Given the description of an element on the screen output the (x, y) to click on. 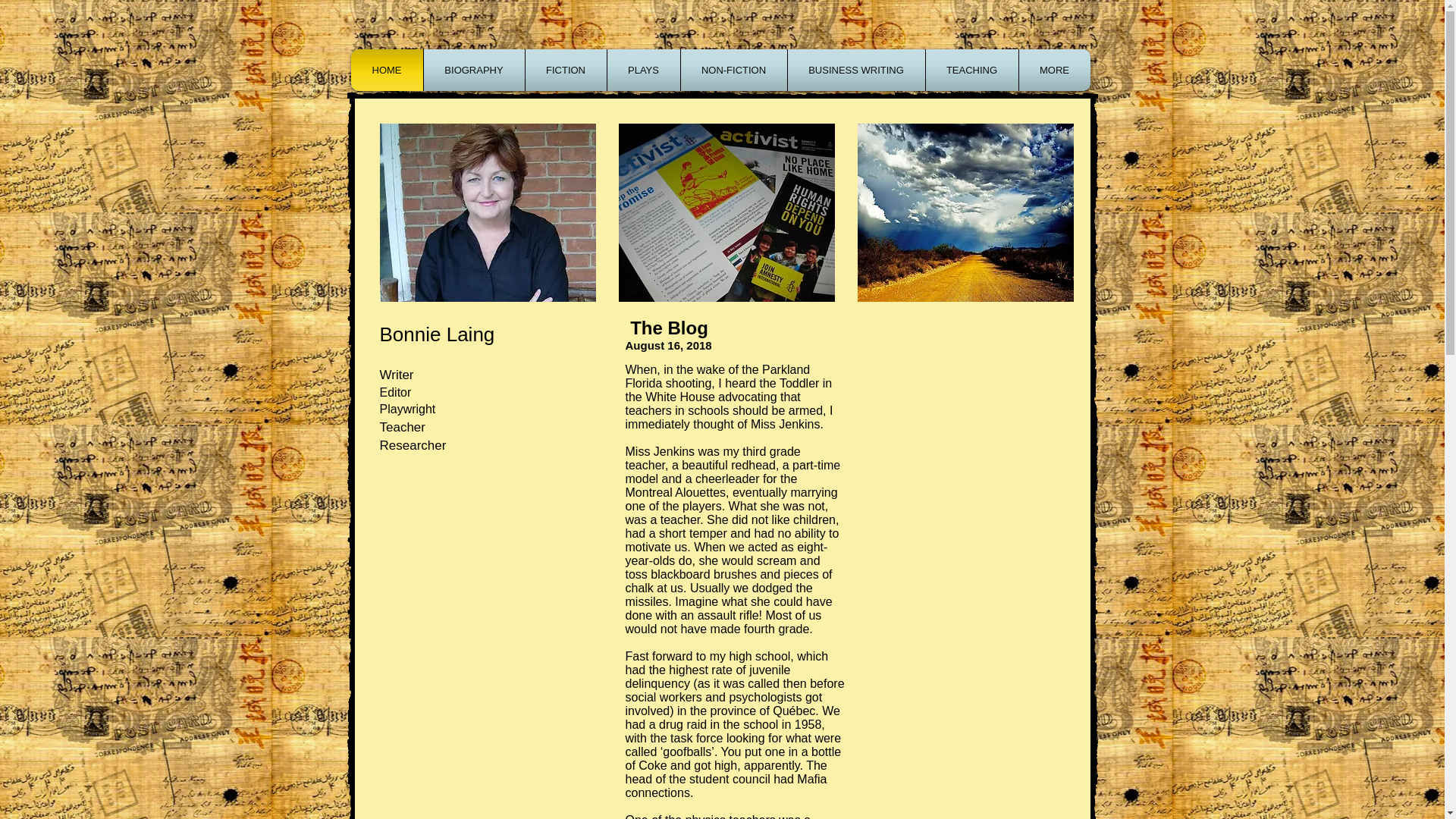
TEACHING Element type: text (971, 70)
FICTION Element type: text (565, 70)
PLAYS Element type: text (643, 70)
IMG_1130.JPG Element type: hover (726, 212)
BIOGRAPHY Element type: text (473, 70)
NON-FICTION Element type: text (733, 70)
BUSINESS WRITING Element type: text (856, 70)
HOME Element type: text (386, 70)
